Given the description of an element on the screen output the (x, y) to click on. 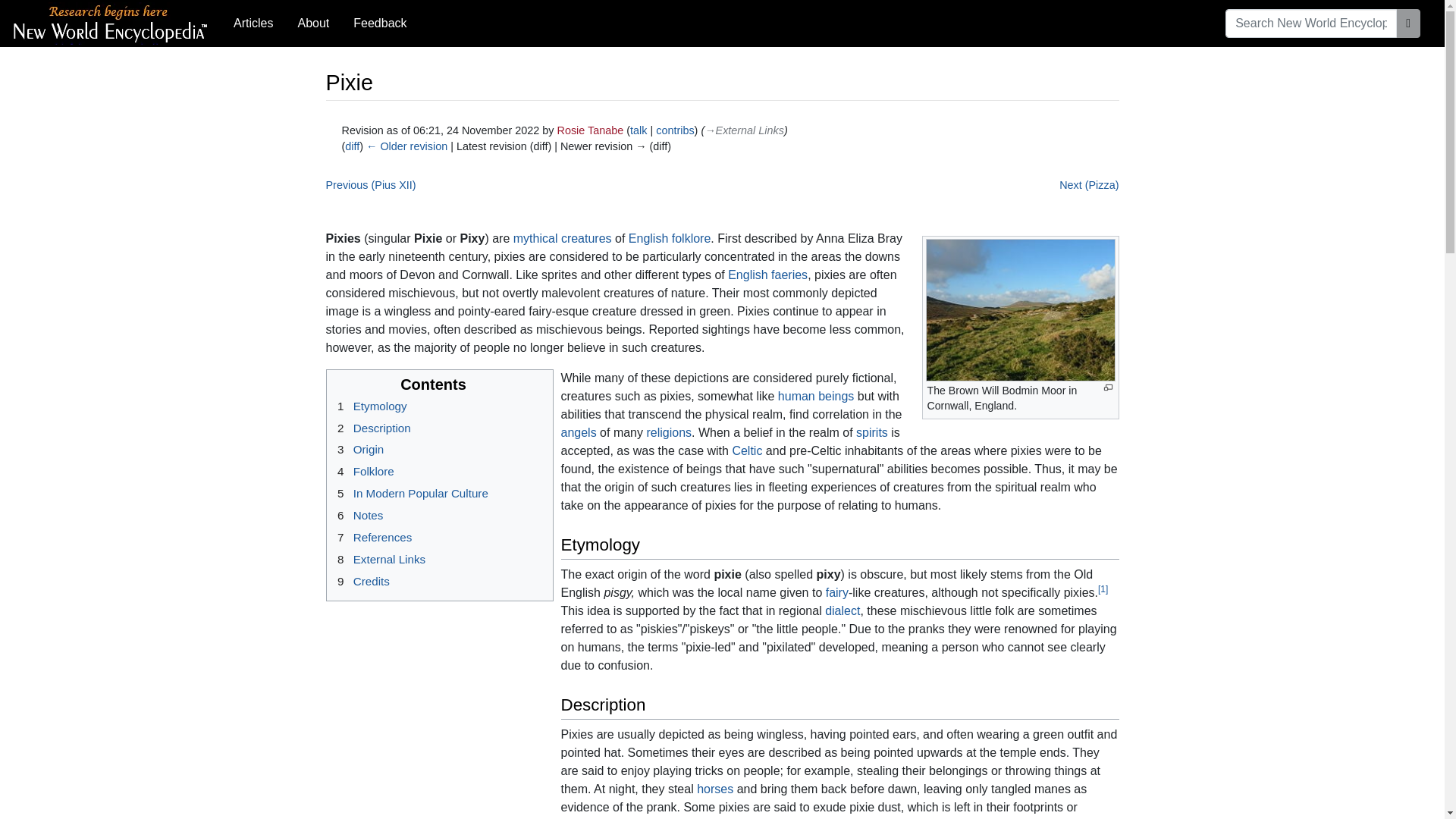
8 External Links (378, 558)
Pius XII (371, 184)
Angel (578, 431)
Articles (253, 23)
Folklore (691, 237)
Enlarge (1107, 388)
Rosie Tanabe (589, 130)
Feedback (379, 23)
dialect (842, 610)
religions (668, 431)
Celtic (746, 450)
User talk:Rosie Tanabe (638, 130)
contribs (675, 130)
English (648, 237)
Human being (815, 395)
